Given the description of an element on the screen output the (x, y) to click on. 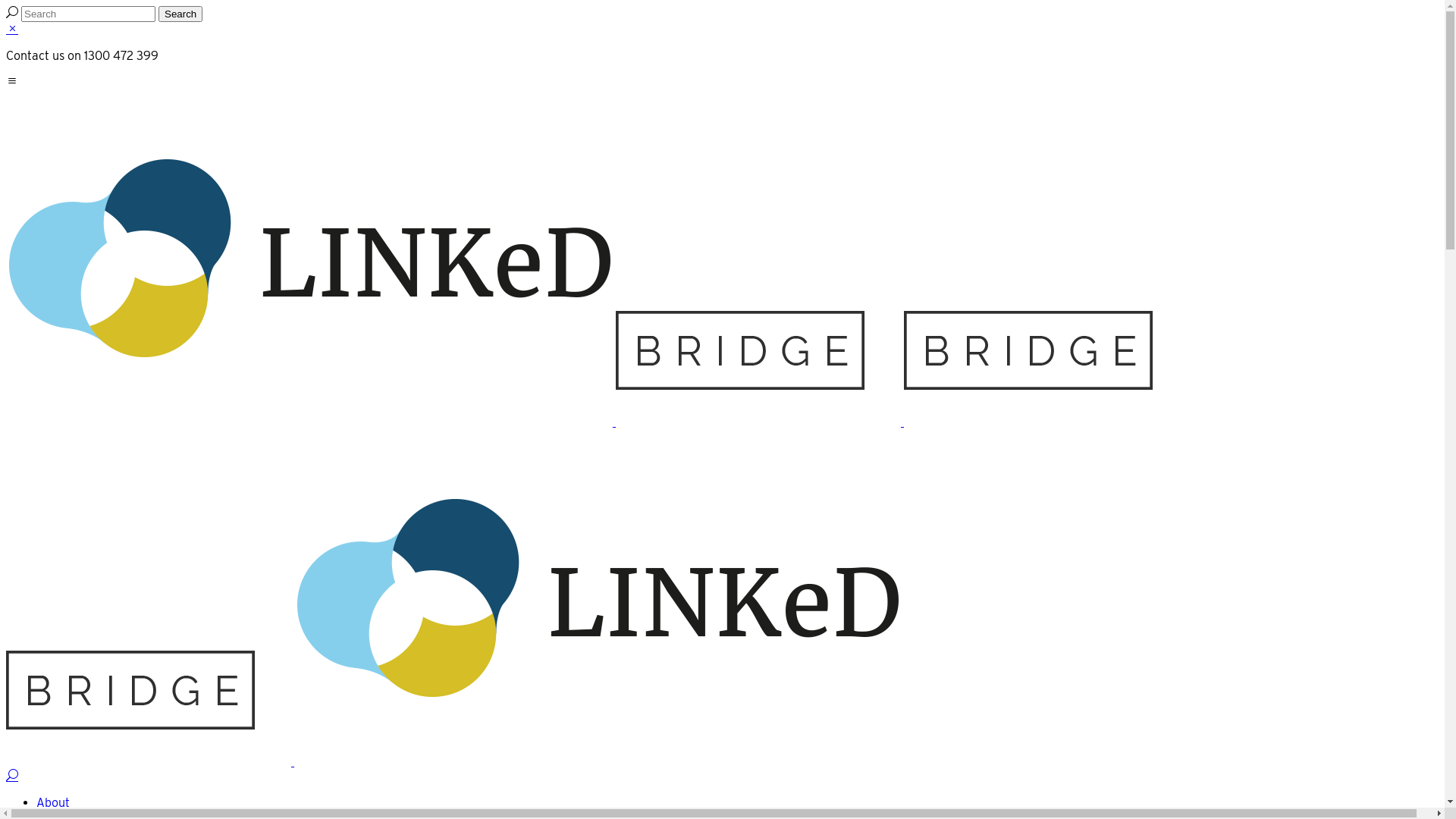
About Element type: text (52, 802)
Search Element type: text (180, 13)
